Given the description of an element on the screen output the (x, y) to click on. 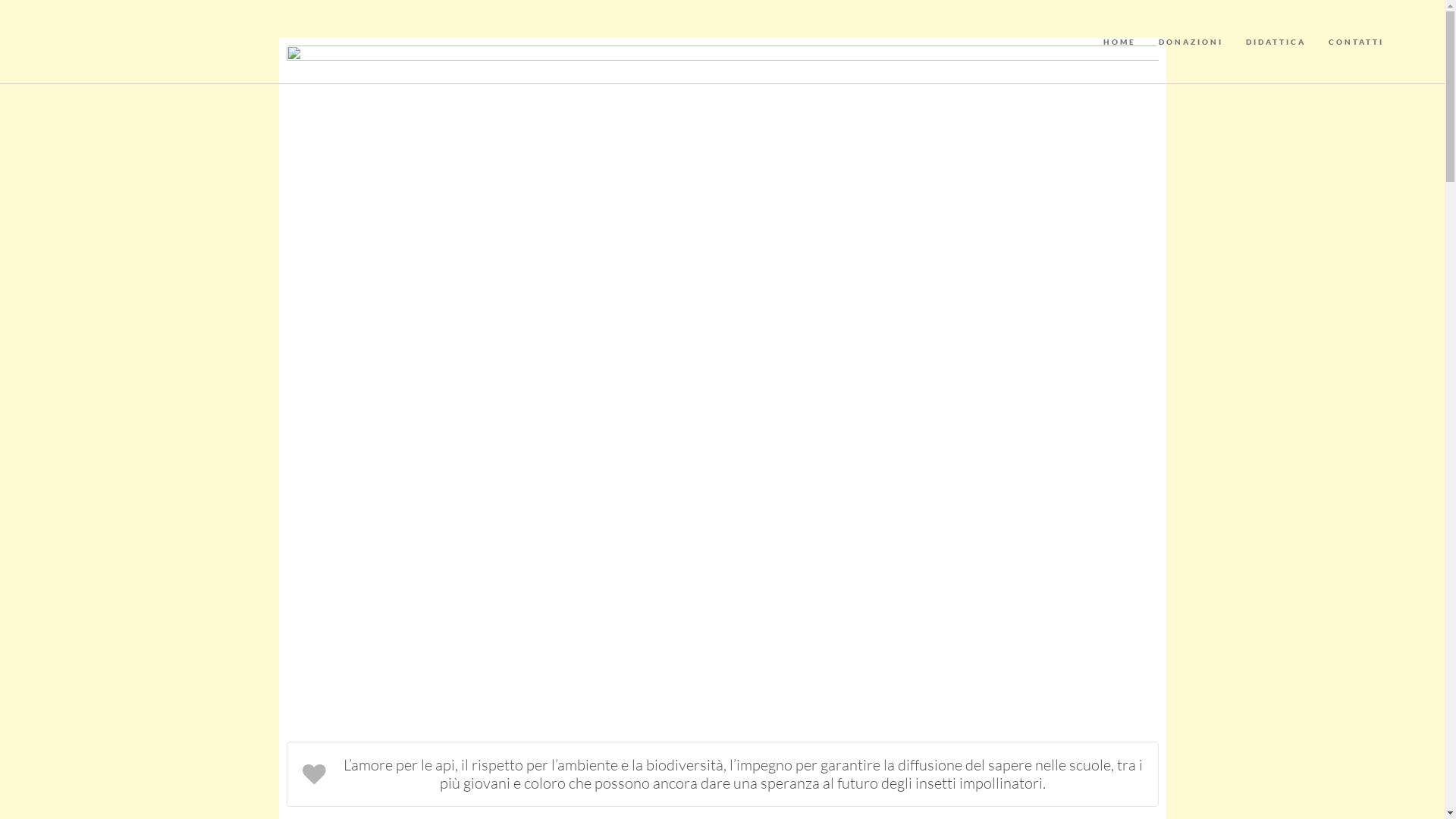
HOME Element type: text (1119, 41)
main Element type: hover (722, 372)
CONTATTI Element type: text (1356, 41)
DIDATTICA Element type: text (1275, 41)
DONAZIONI Element type: text (1190, 41)
